Given the description of an element on the screen output the (x, y) to click on. 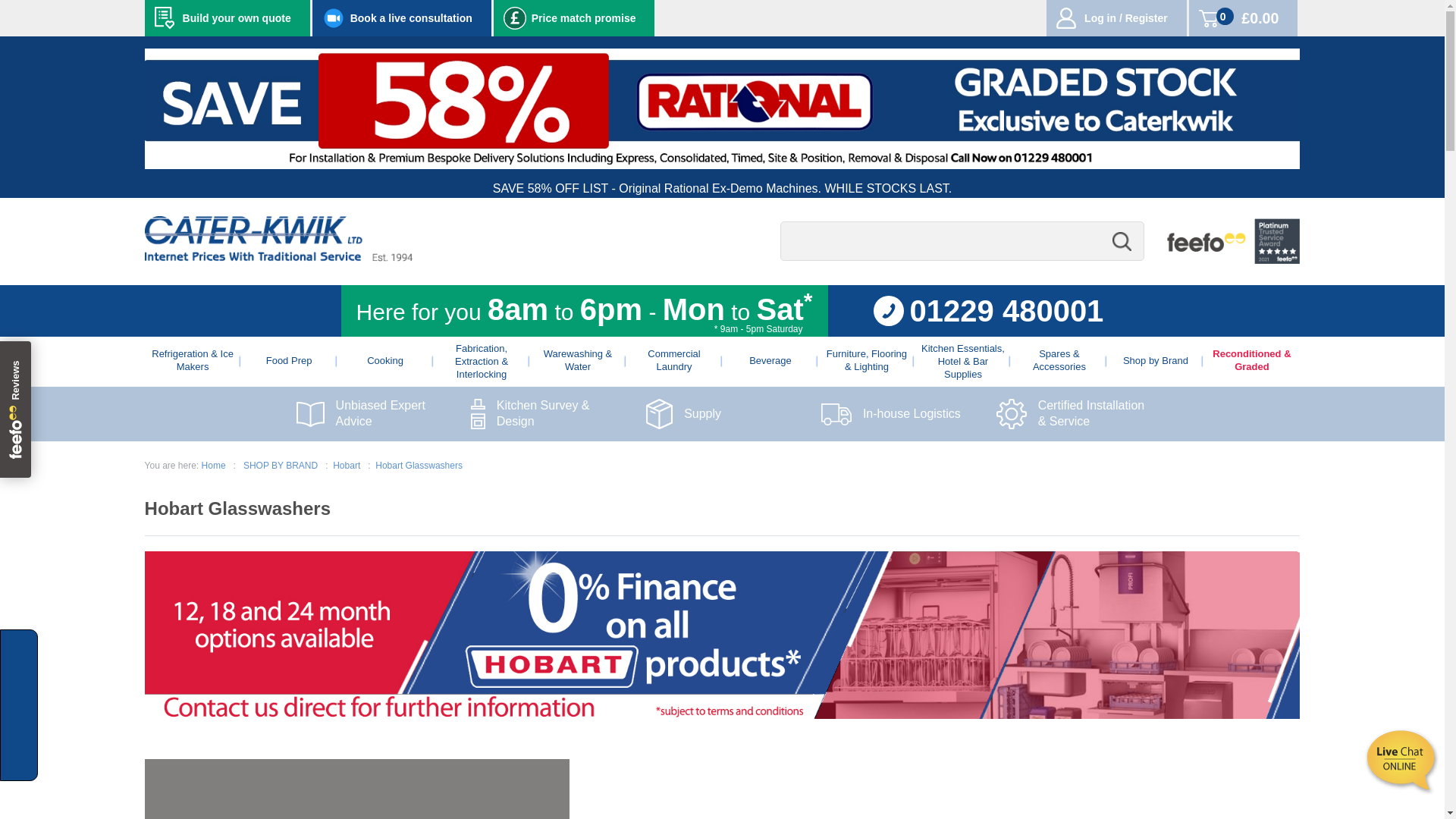
Return to the Homepage (278, 256)
Build your own quote (227, 18)
01229 480001 (988, 310)
Price match promise (574, 18)
Book a live consultation (402, 18)
